Given the description of an element on the screen output the (x, y) to click on. 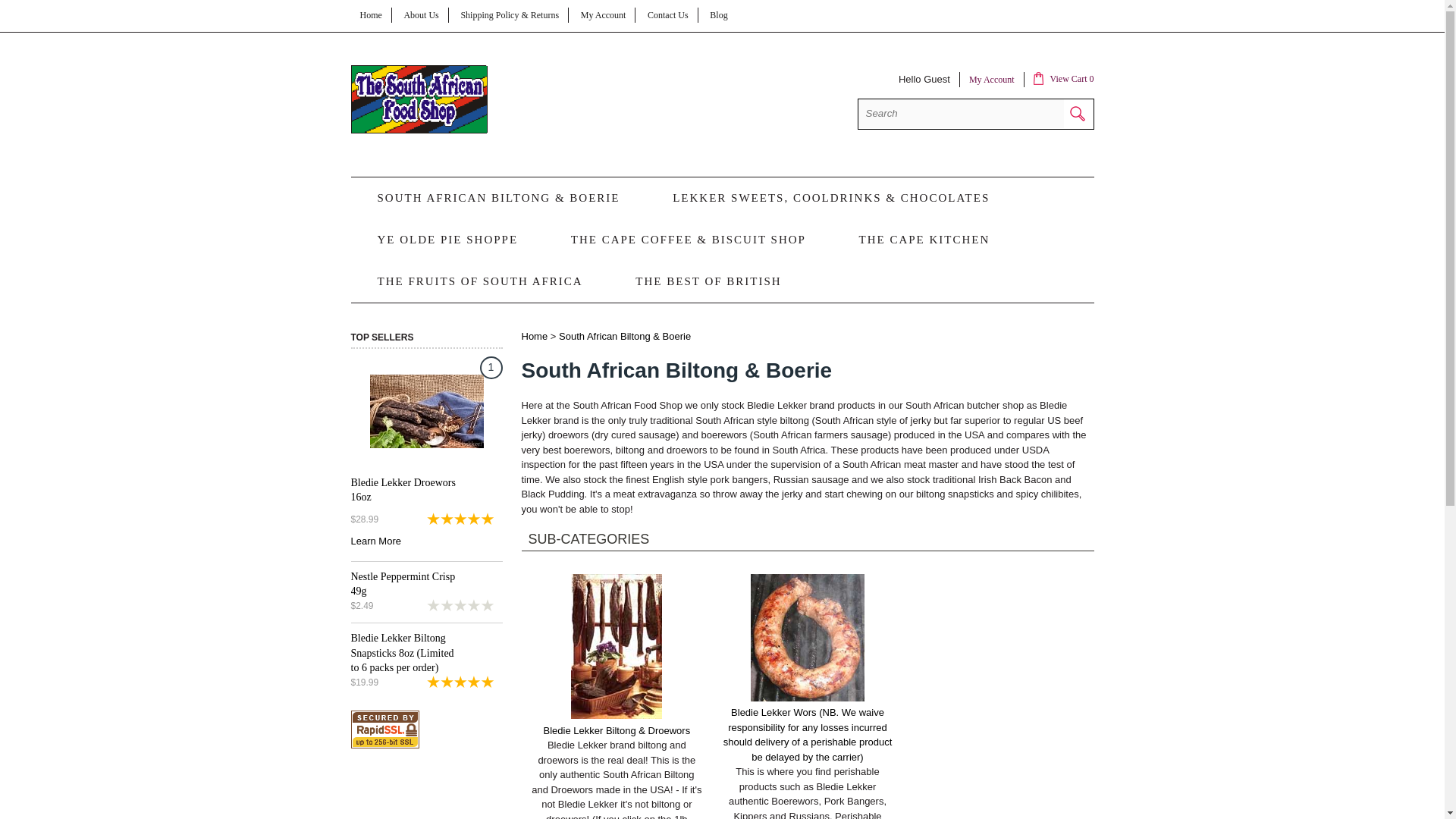
Learn More (375, 541)
Contact Us (667, 14)
Home (370, 14)
My Account (991, 79)
Bledie Lekker Droewors 16oz (402, 488)
home (418, 129)
THE CAPE KITCHEN (922, 240)
The South African Food Shop (418, 129)
My Account (603, 14)
Blog (718, 14)
